Given the description of an element on the screen output the (x, y) to click on. 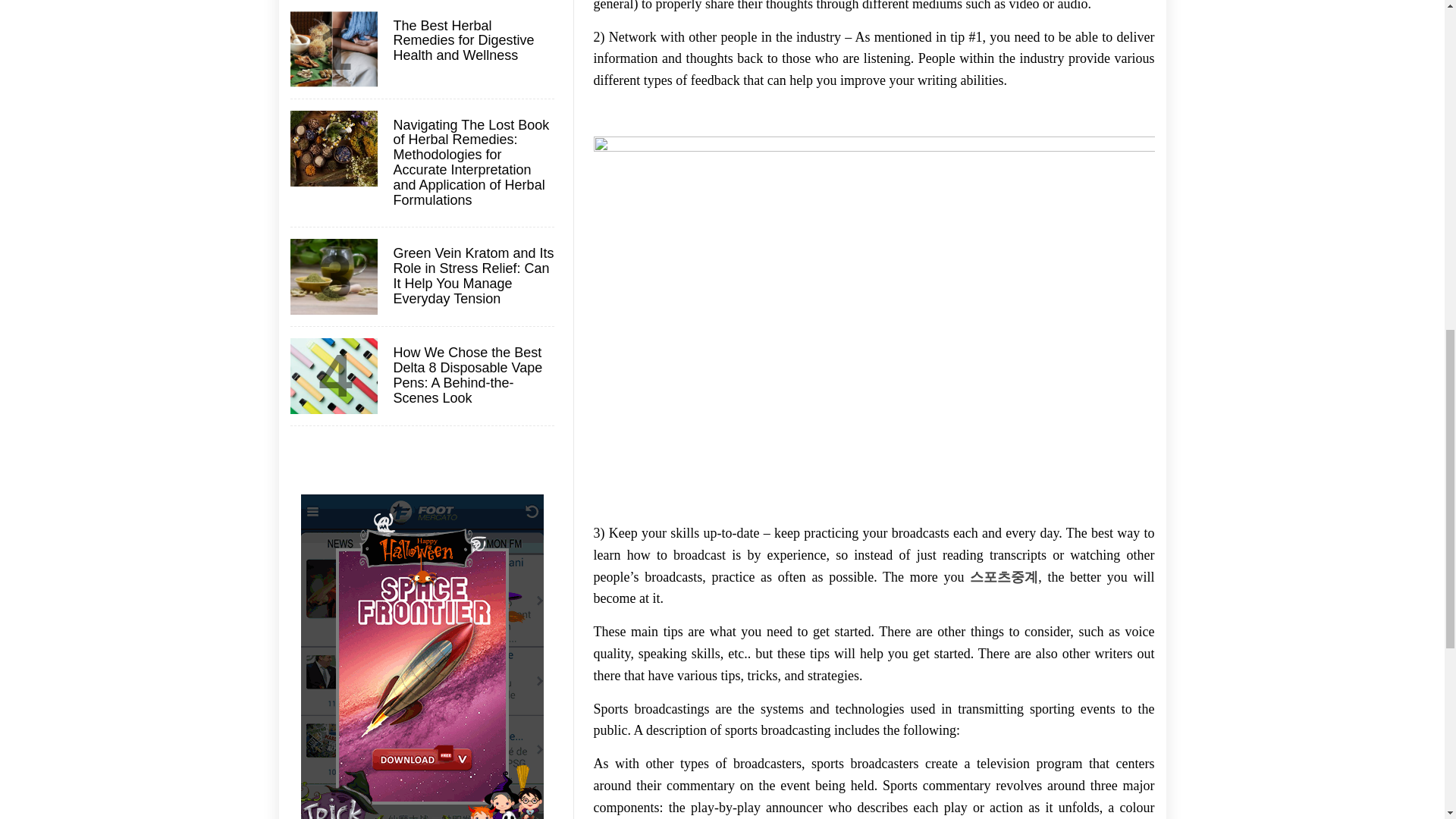
The Best Herbal Remedies for Digestive Health and Wellness (471, 40)
